Given the description of an element on the screen output the (x, y) to click on. 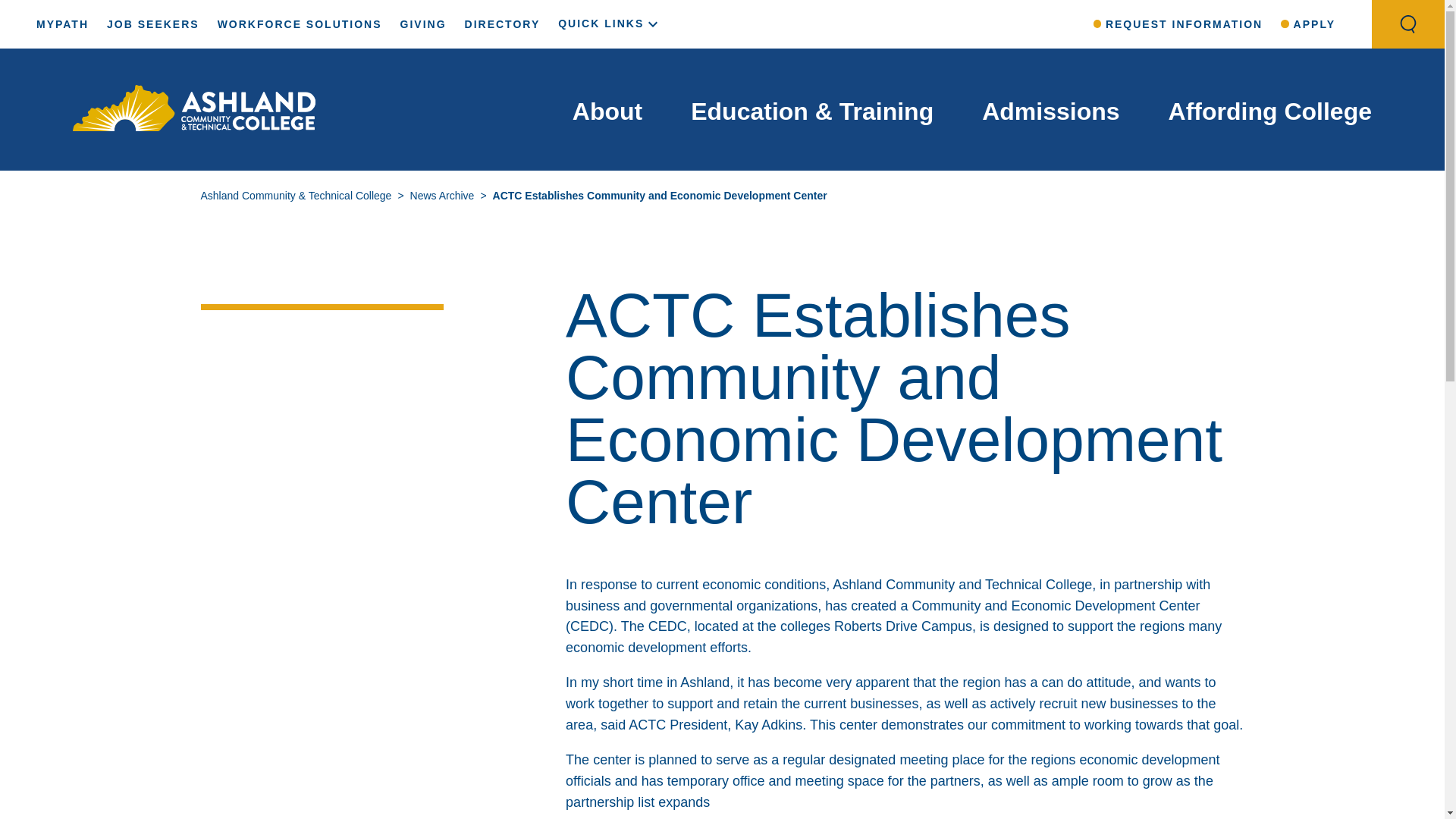
REQUEST INFORMATION (1178, 24)
DIRECTORY (502, 23)
QUICK LINKS (609, 22)
JOB SEEKERS (152, 23)
APPLY (1308, 24)
MYPATH (62, 23)
GIVING (423, 23)
WORKFORCE SOLUTIONS (298, 23)
